Given the description of an element on the screen output the (x, y) to click on. 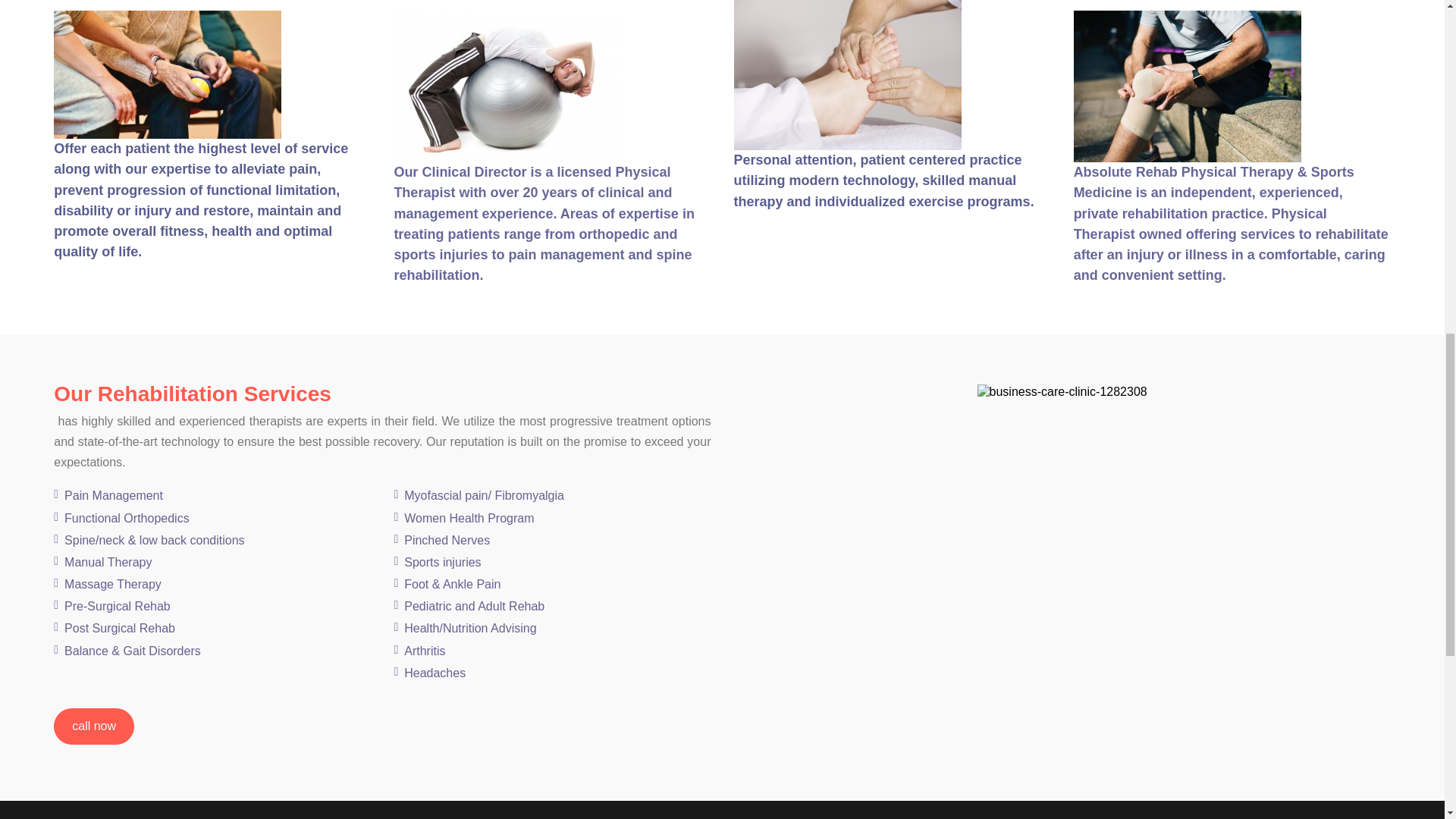
bench-daylight-daytime-1288484 (1187, 86)
action-adult-affection-339620 (167, 74)
massage therapy (846, 74)
call now (93, 726)
business-care-clinic-1282308 (1061, 391)
exercise-exercise-ball-fitness-41213 (507, 86)
